Given the description of an element on the screen output the (x, y) to click on. 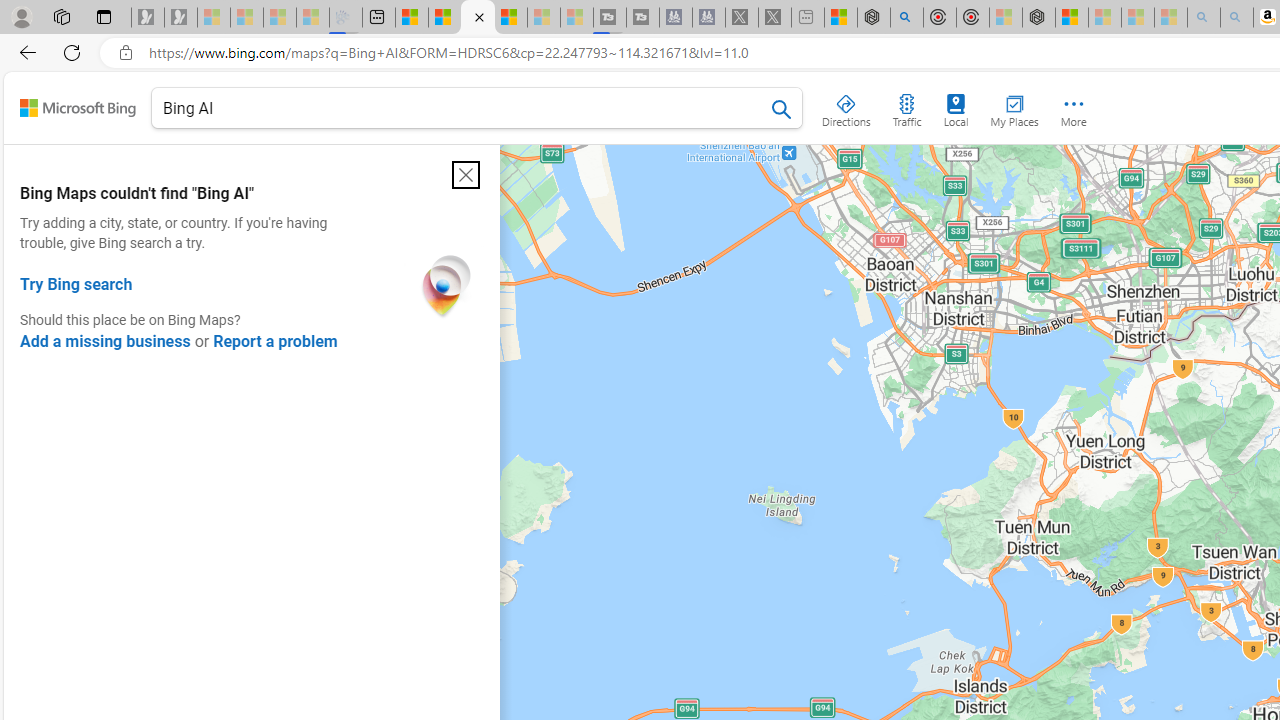
Add a search (461, 107)
Microsoft Start - Sleeping (543, 17)
amazon - Search - Sleeping (1203, 17)
Amazon Echo Dot PNG - Search Images - Sleeping (1237, 17)
Add a missing business (105, 341)
Bing AI (477, 111)
Traffic (906, 106)
Report a problem (274, 341)
